Given the description of an element on the screen output the (x, y) to click on. 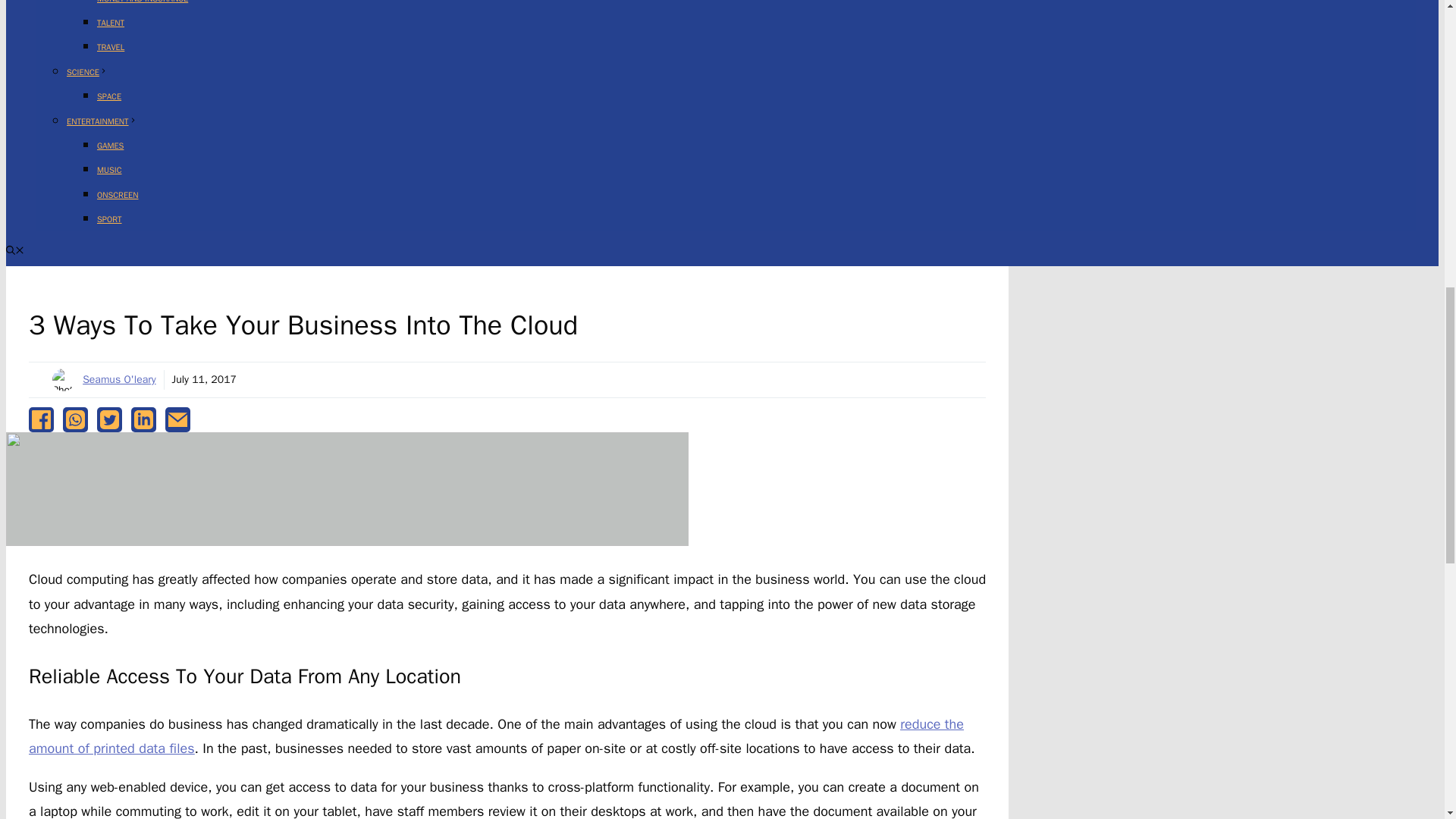
SCIENCE (86, 71)
MUSIC (109, 169)
TALENT (110, 22)
MONEY AND INSURANCE (142, 2)
TRAVEL (110, 46)
SPACE (108, 95)
ENTERTAINMENT (101, 121)
GAMES (110, 145)
